Given the description of an element on the screen output the (x, y) to click on. 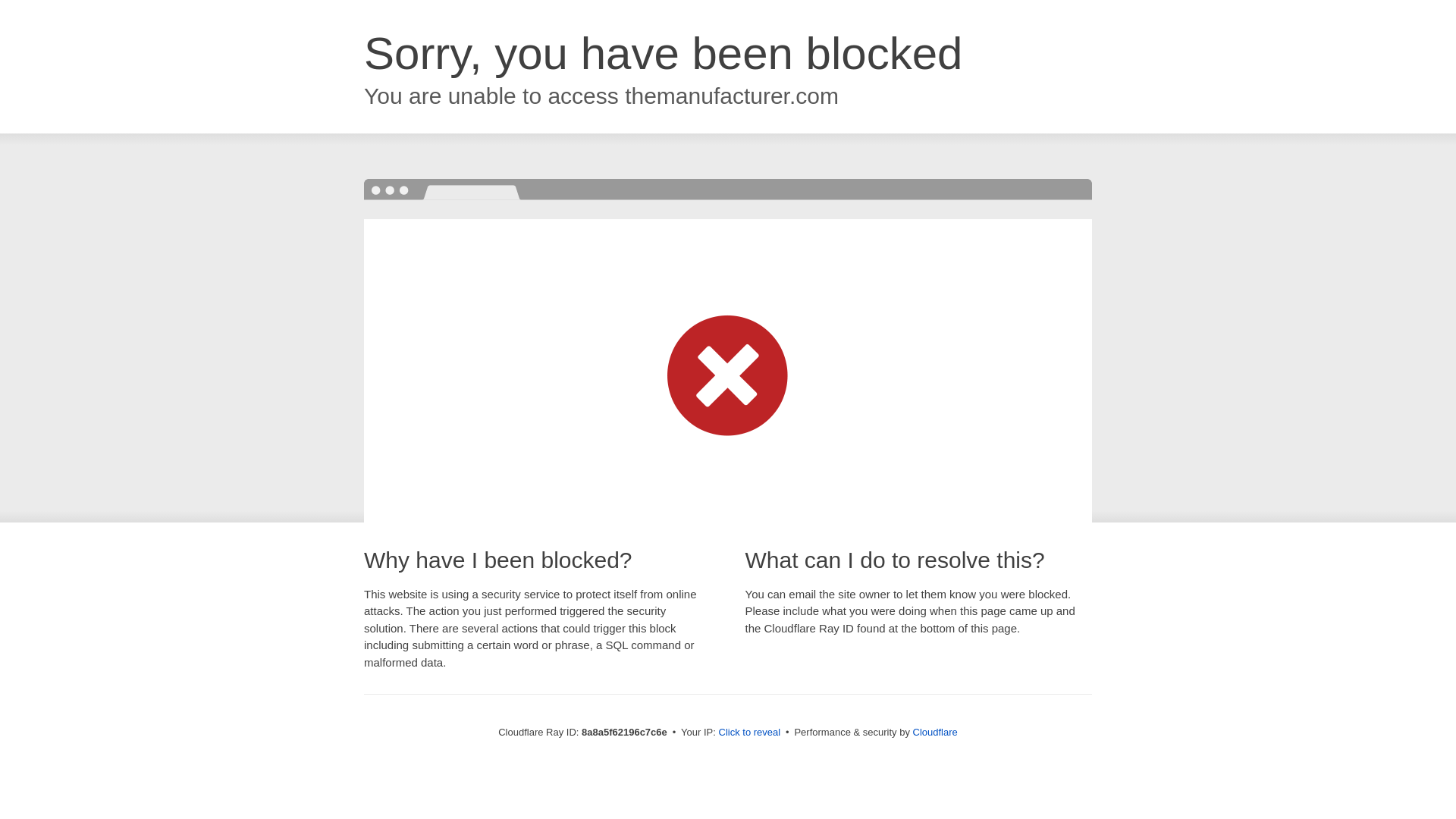
Click to reveal (749, 732)
Cloudflare (935, 731)
